Given the description of an element on the screen output the (x, y) to click on. 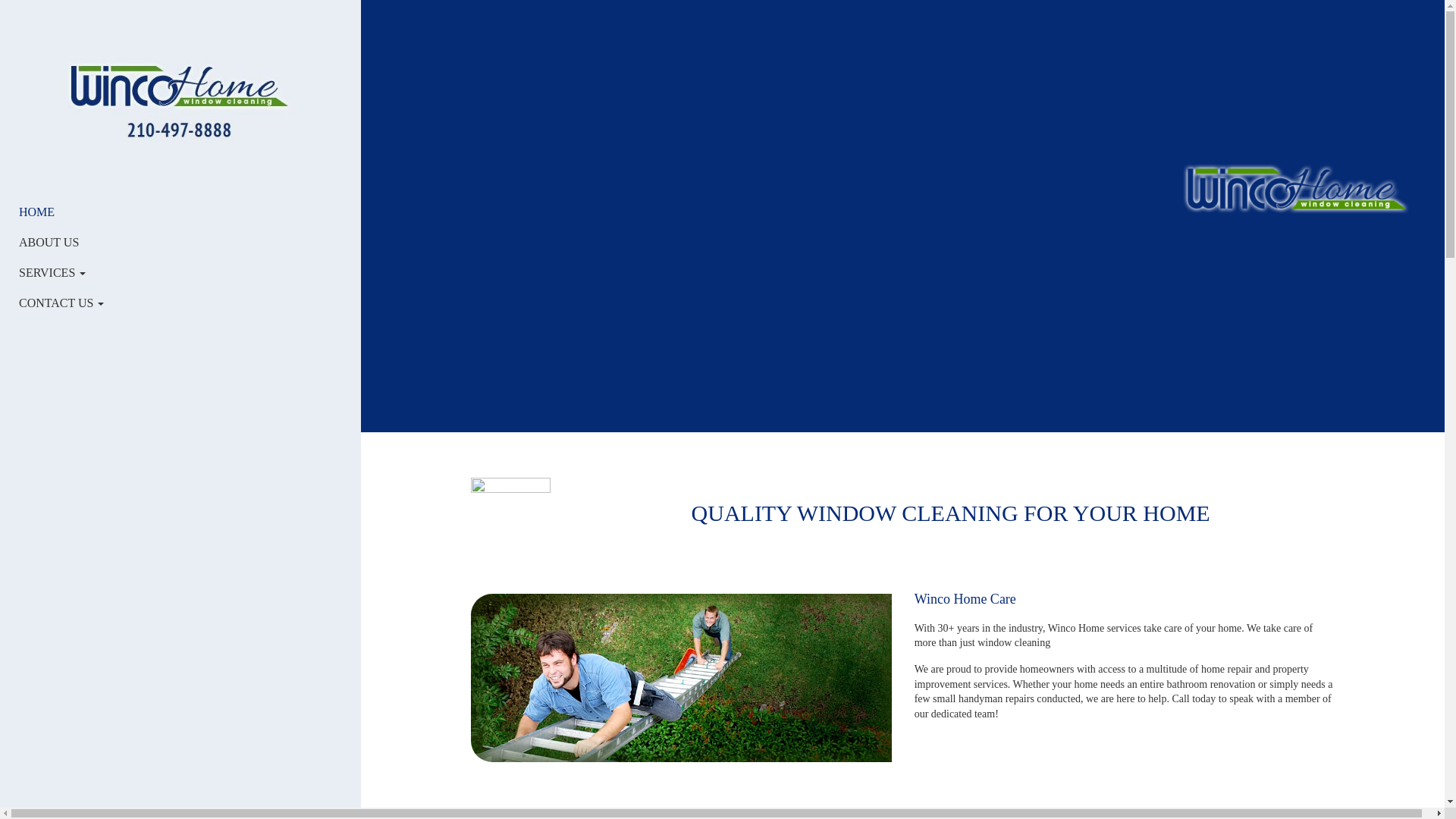
SERVICES (165, 272)
HOME (165, 212)
ABOUT US (165, 242)
CONTACT US (165, 303)
